Given the description of an element on the screen output the (x, y) to click on. 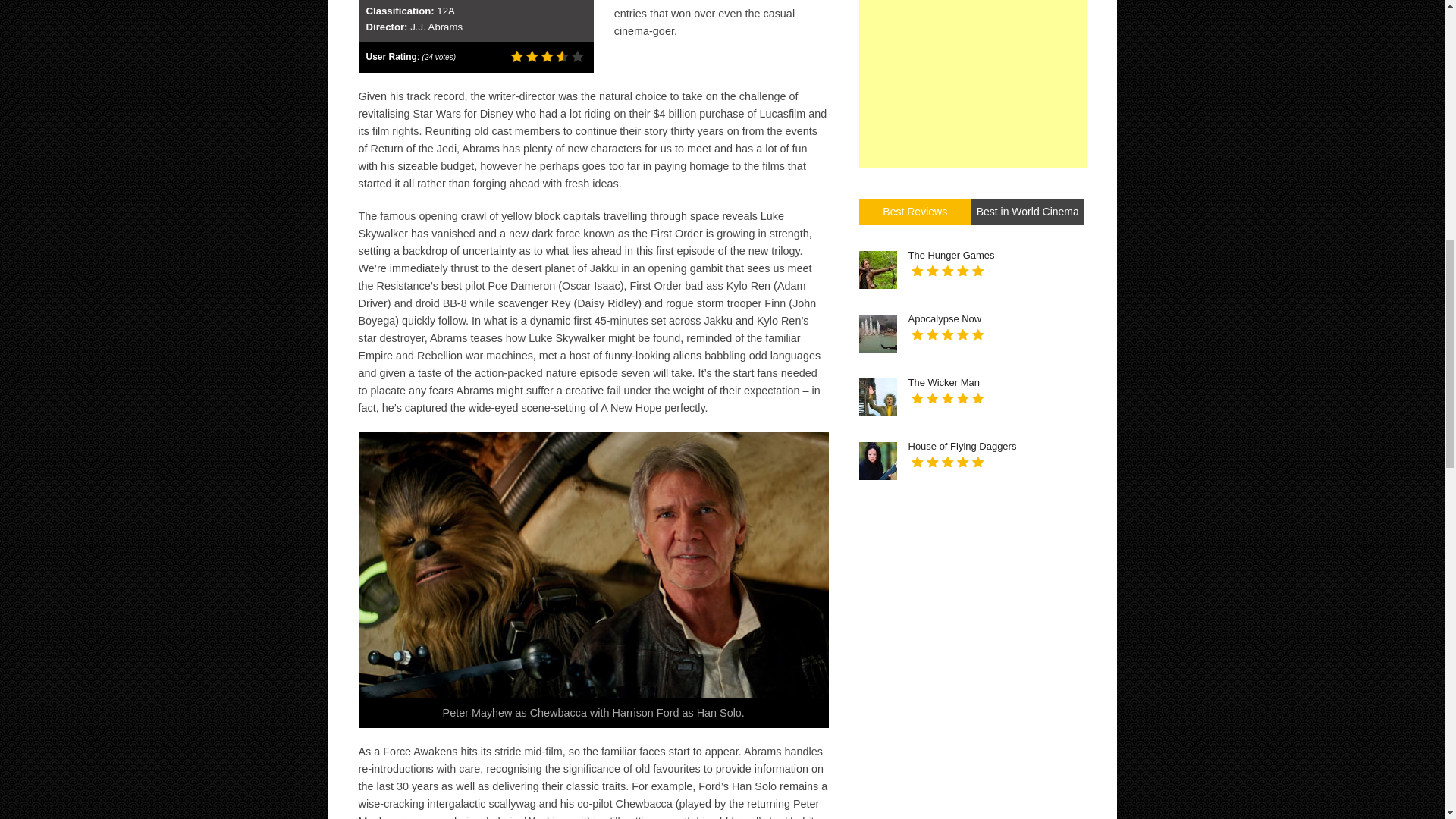
Best Reviews (915, 211)
The Hunger Games (951, 255)
Best in World Cinema (1027, 211)
House of Flying Daggers (962, 446)
House of Flying Daggers (962, 446)
The Hunger Games (951, 255)
Best Reviews (915, 211)
The Wicker Man (943, 382)
Apocalypse Now (944, 318)
Advertisement (972, 84)
Best in World Cinema (1027, 211)
The Wicker Man (943, 382)
Apocalypse Now (944, 318)
